Given the description of an element on the screen output the (x, y) to click on. 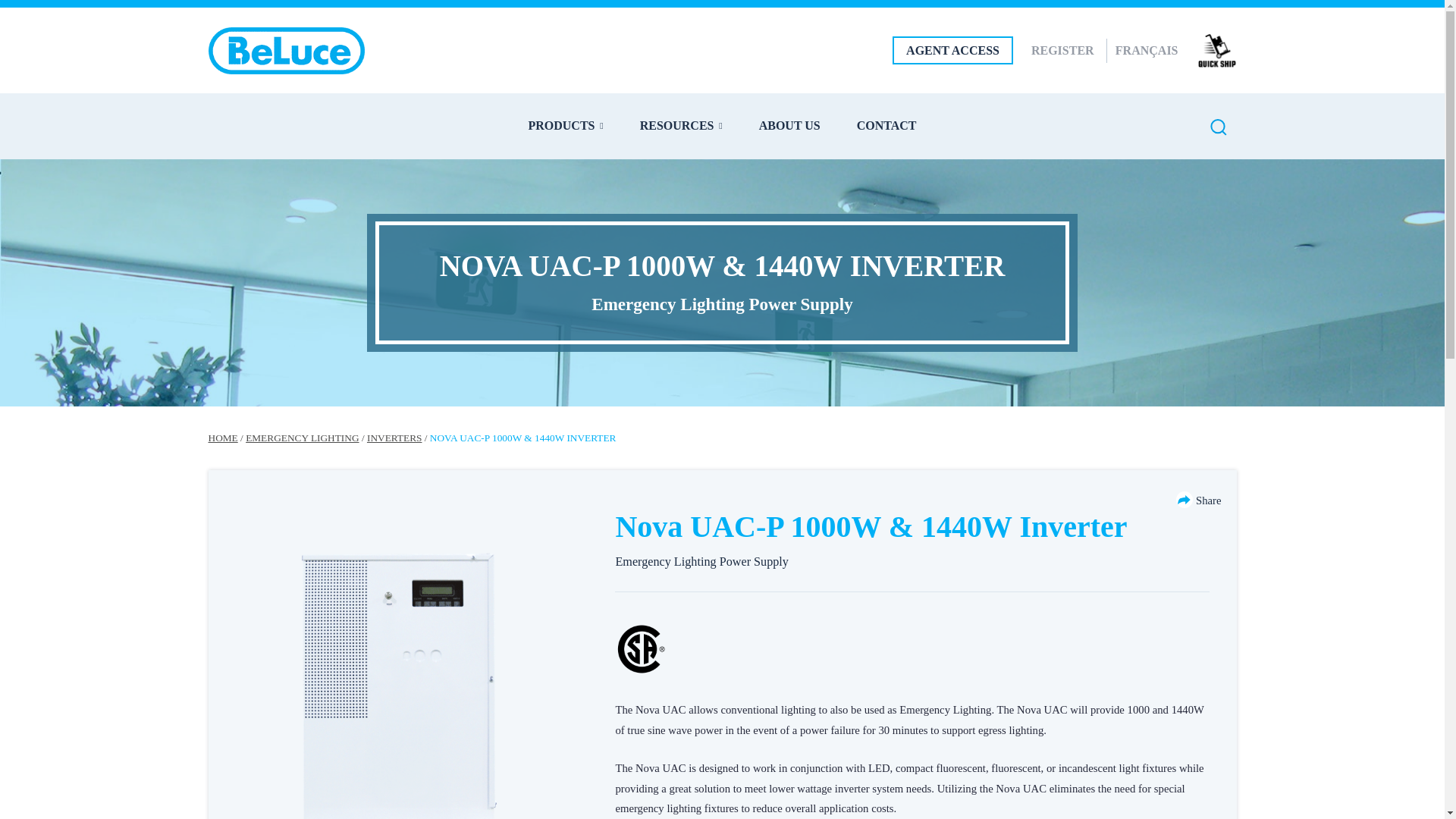
CONTACT (887, 125)
ABOUT US (789, 125)
AGENT ACCESS (952, 50)
REGISTER (1062, 50)
RESOURCES (681, 125)
PRODUCTS (564, 125)
